Given the description of an element on the screen output the (x, y) to click on. 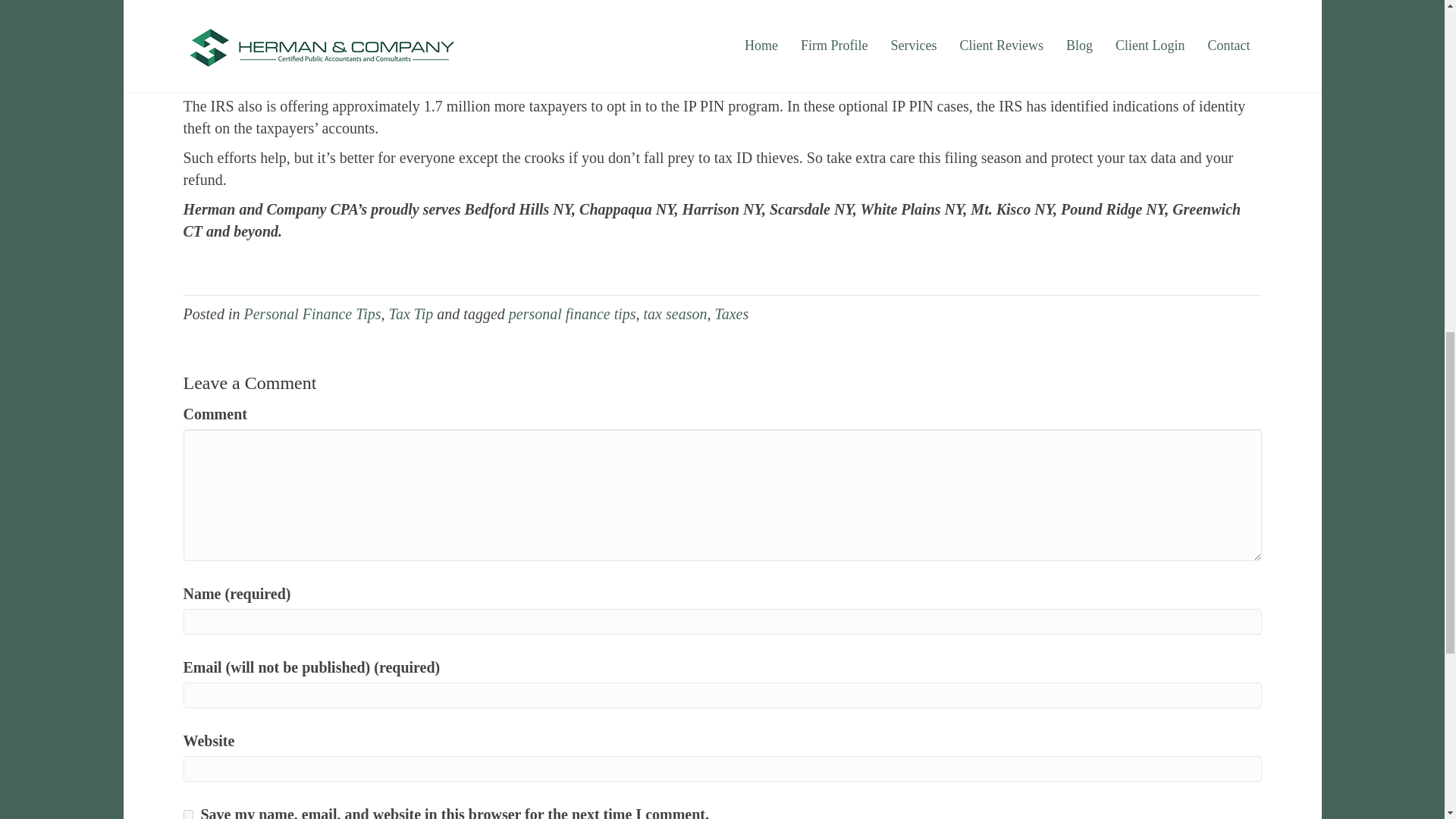
yes (188, 814)
Tax Tip (410, 313)
Personal Finance Tips (312, 313)
tax season (675, 313)
Taxes (731, 313)
personal finance tips (572, 313)
